Given the description of an element on the screen output the (x, y) to click on. 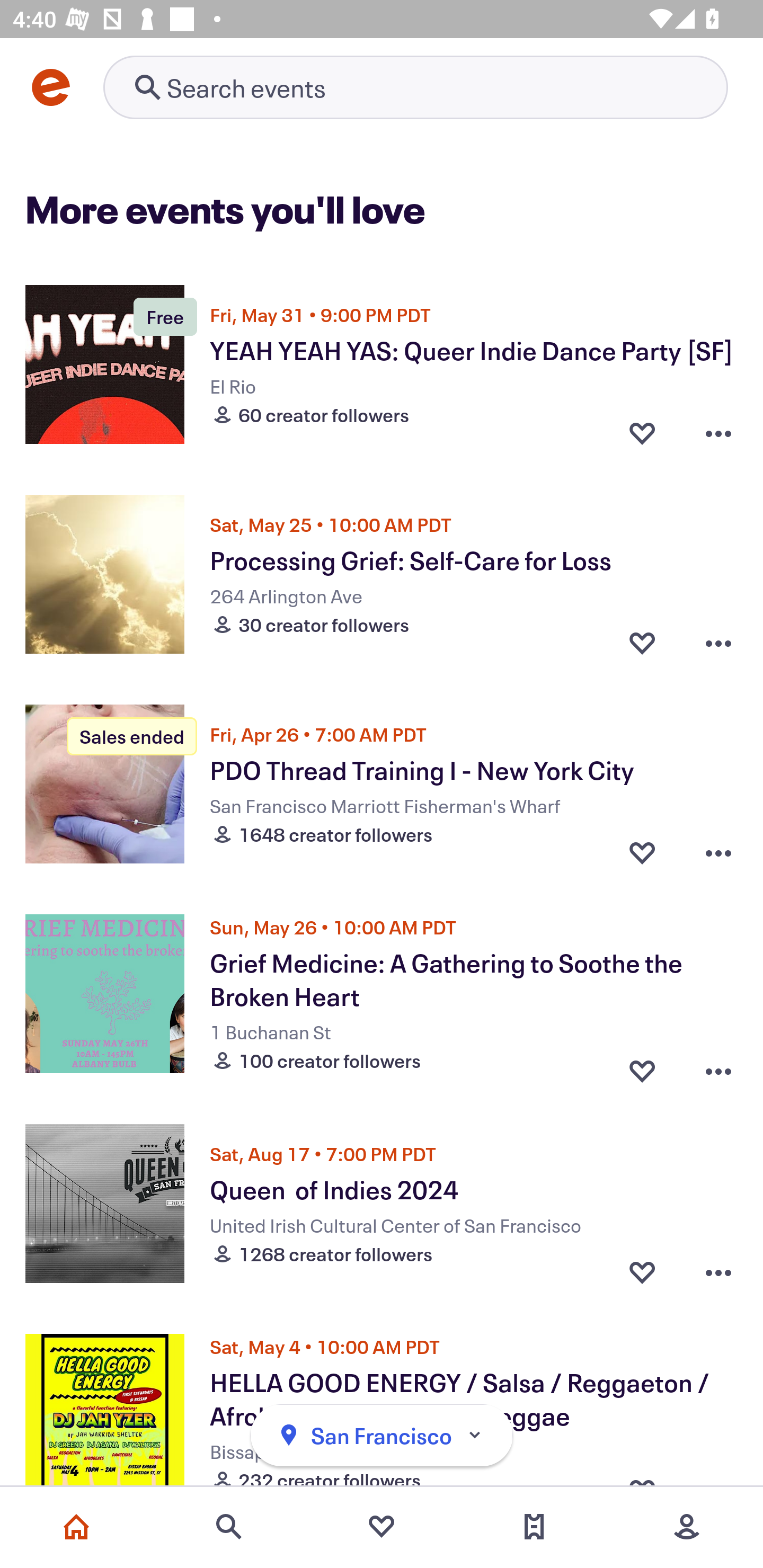
Retry's image Search events (415, 86)
Favorite button (642, 431)
Overflow menu button (718, 431)
Favorite button (642, 641)
Overflow menu button (718, 641)
Favorite button (642, 852)
Overflow menu button (718, 852)
Favorite button (642, 1066)
Overflow menu button (718, 1066)
Favorite button (642, 1271)
Overflow menu button (718, 1271)
San Francisco (381, 1435)
Home (76, 1526)
Search events (228, 1526)
Favorites (381, 1526)
Tickets (533, 1526)
More (686, 1526)
